Given the description of an element on the screen output the (x, y) to click on. 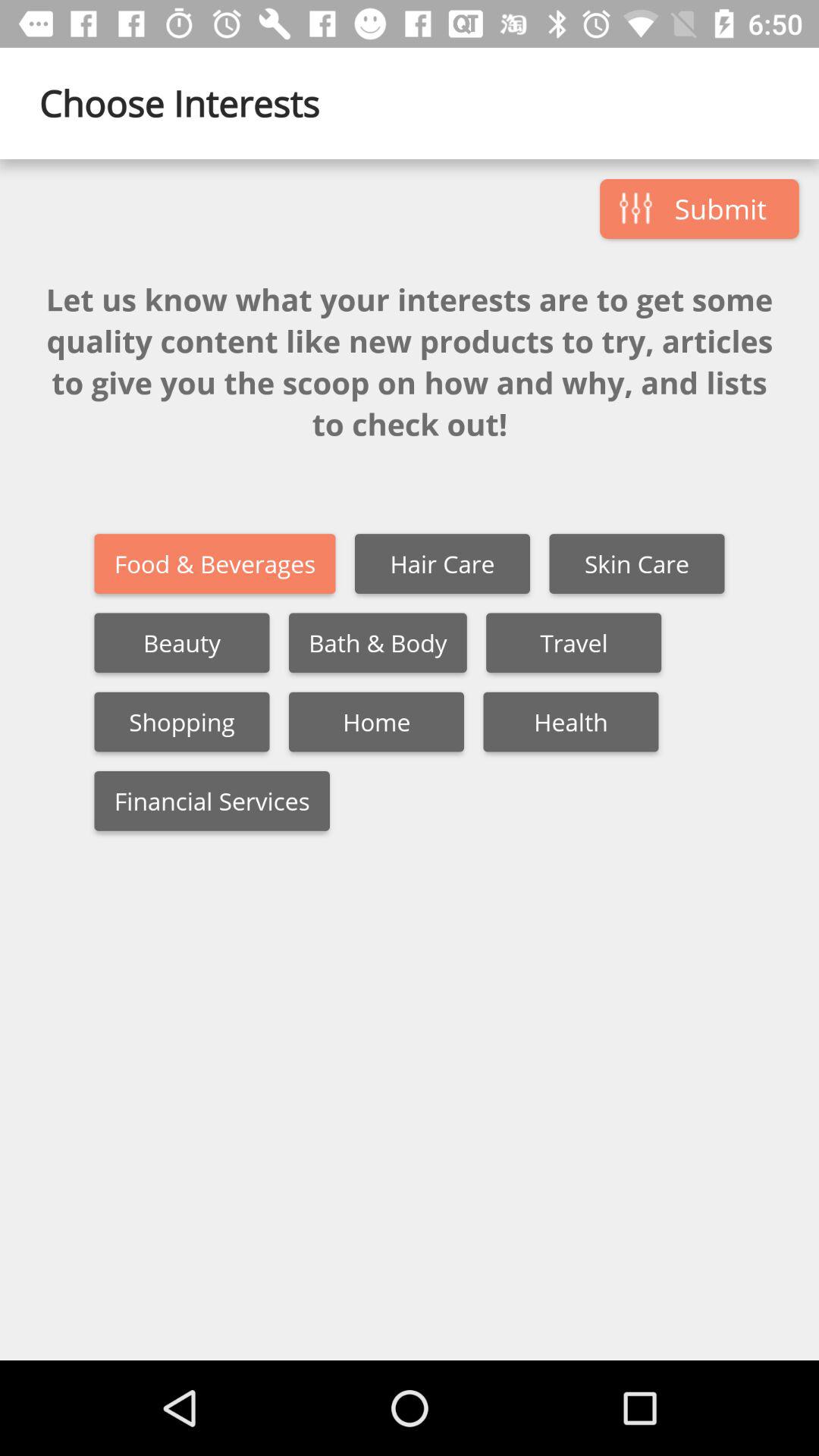
jump until food & beverages item (214, 563)
